Given the description of an element on the screen output the (x, y) to click on. 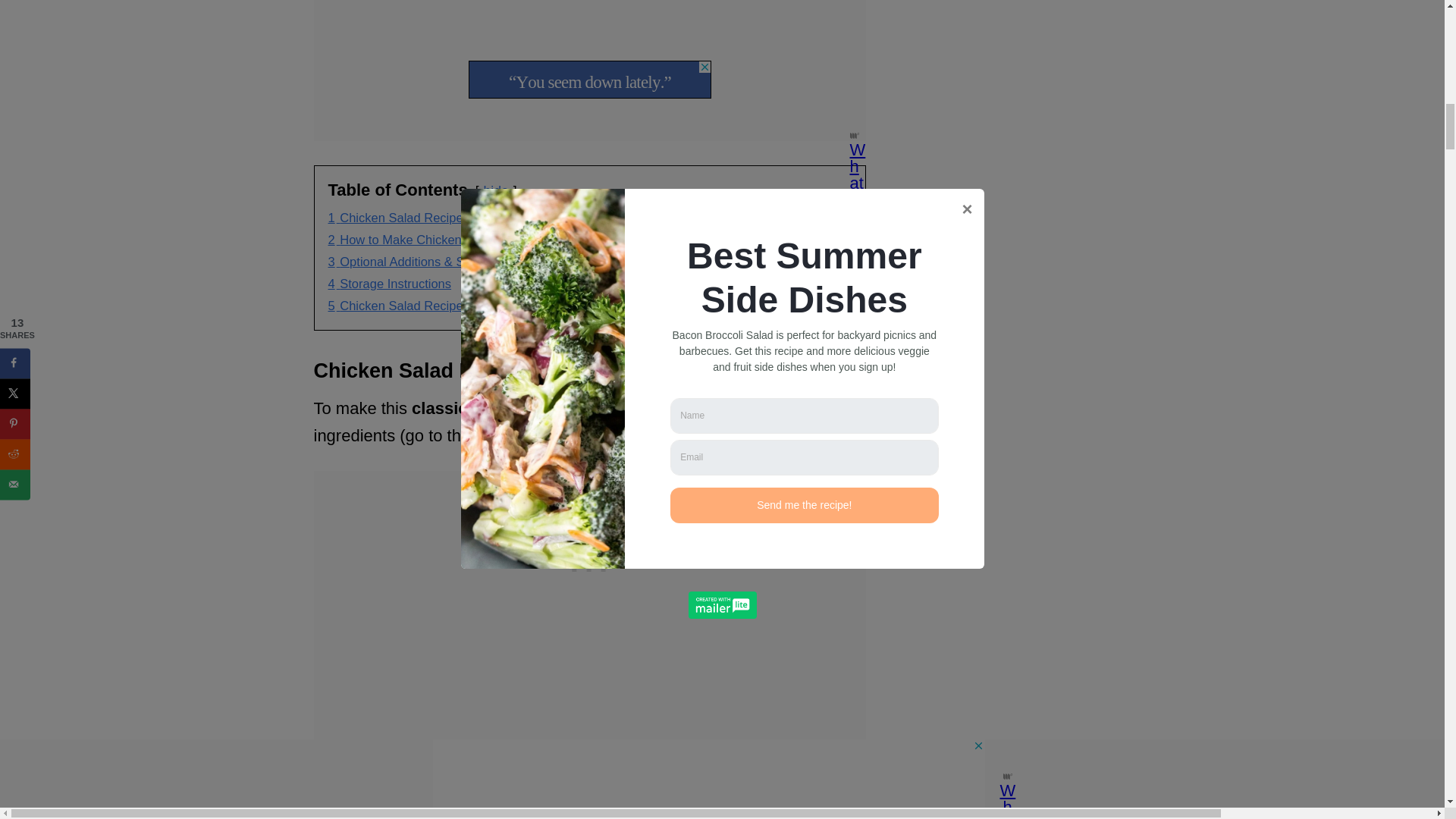
3rd party ad content (589, 565)
